Given the description of an element on the screen output the (x, y) to click on. 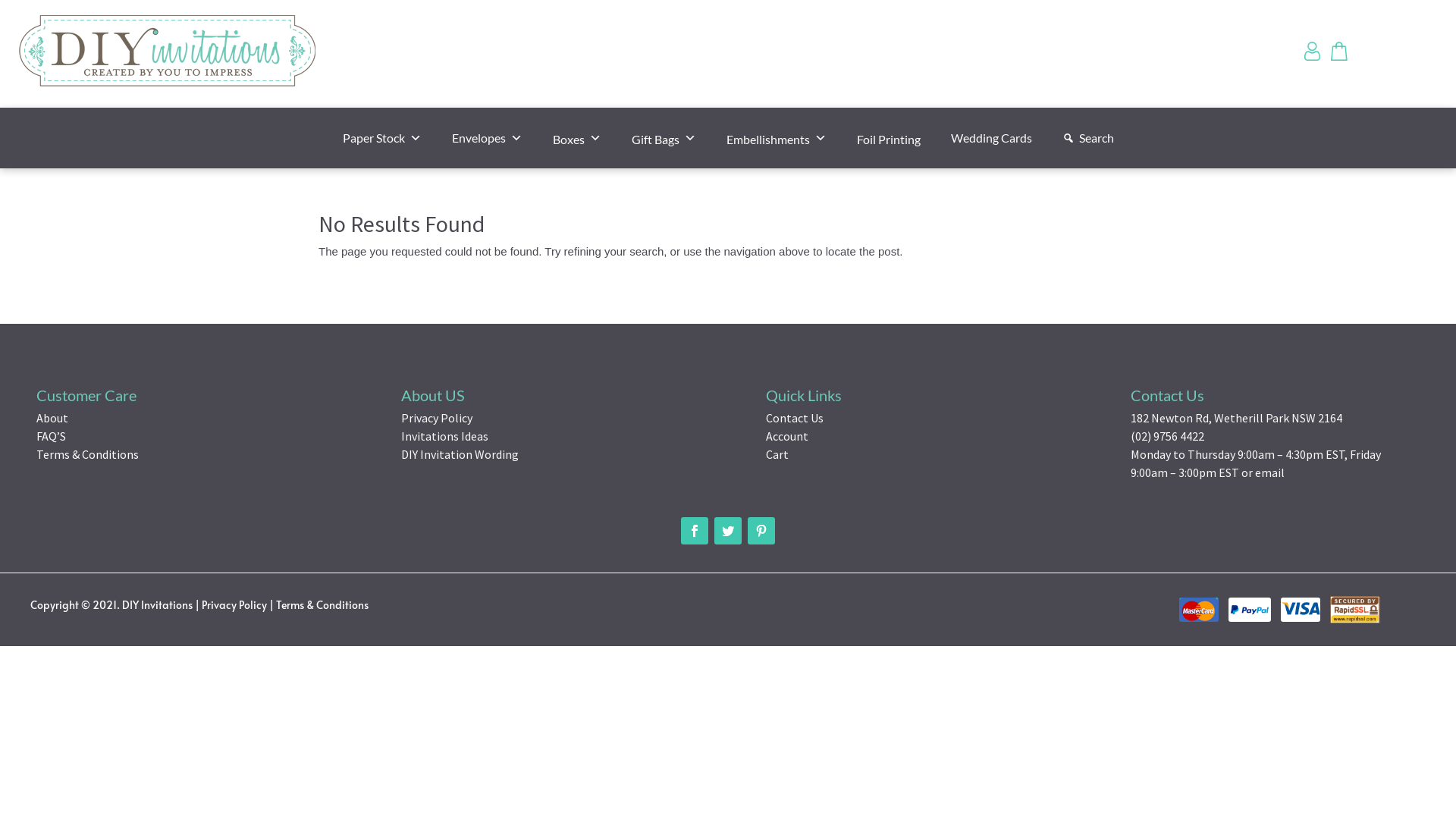
Follow on Facebook Element type: hover (1249, 609)
Follow on Twitter Element type: hover (727, 530)
Envelopes Element type: text (486, 137)
Follow on Pinterest Element type: hover (761, 530)
user (7) Element type: hover (1313, 50)
Follow on Facebook Element type: hover (694, 530)
Terms & Conditions Element type: text (87, 453)
Wedding Cards Element type: text (991, 137)
Foil Printing Element type: text (888, 137)
Search Element type: text (1087, 137)
Paper Stock Element type: text (381, 137)
DIY-invitations-logo Element type: hover (167, 53)
Gift Bags Element type: text (662, 137)
Follow on Facebook Element type: hover (1198, 609)
Privacy Policy Element type: text (233, 604)
Follow on Facebook Element type: hover (1355, 609)
Follow on Facebook Element type: hover (1300, 609)
Boxes Element type: text (575, 137)
Terms & Conditions Element type: text (322, 604)
shopping-bag Element type: hover (1339, 50)
Embellishments Element type: text (776, 137)
